Given the description of an element on the screen output the (x, y) to click on. 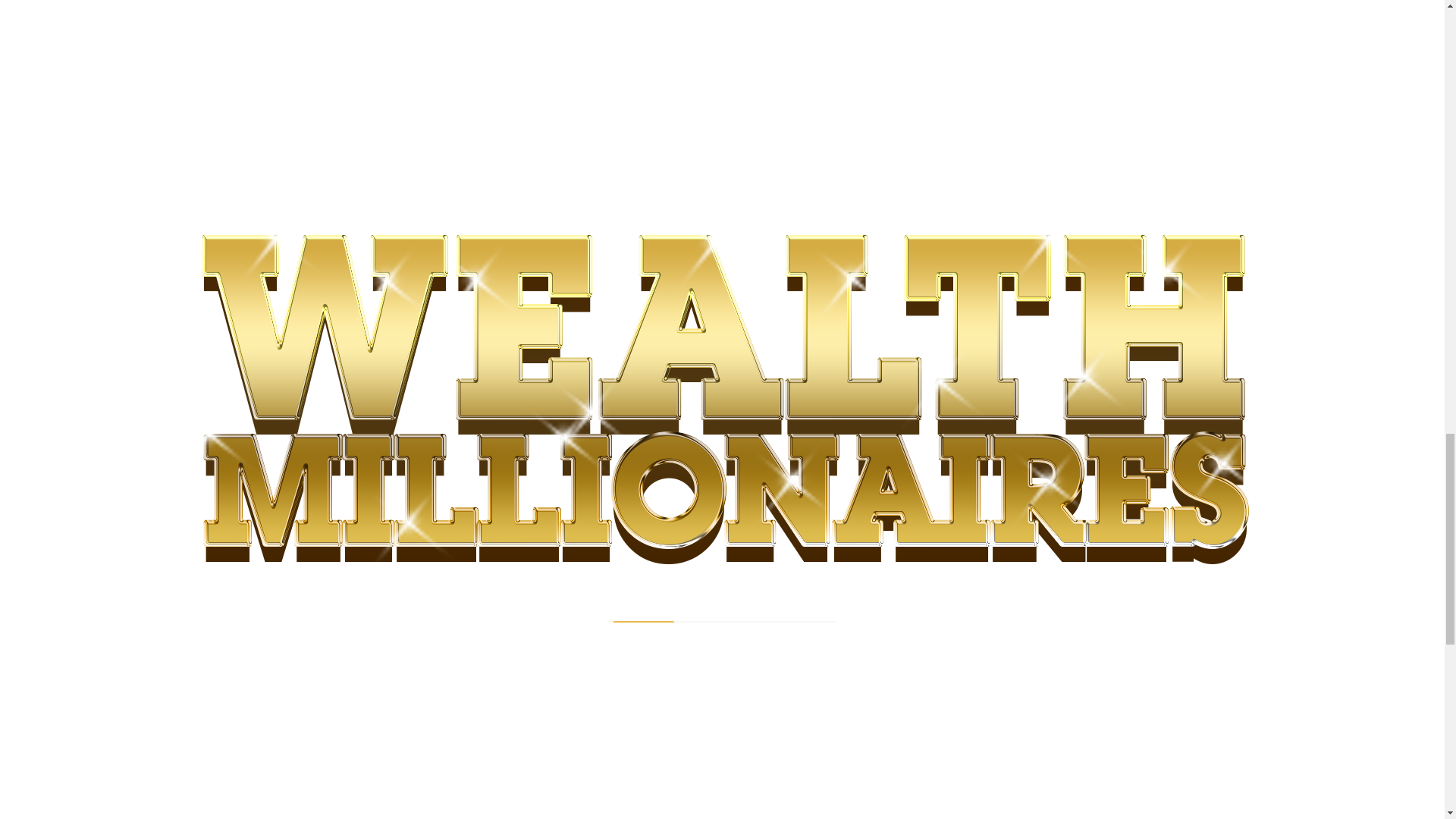
2 years ago (611, 588)
2 years ago (330, 561)
2 years ago (430, 1)
2 years ago (611, 242)
